Given the description of an element on the screen output the (x, y) to click on. 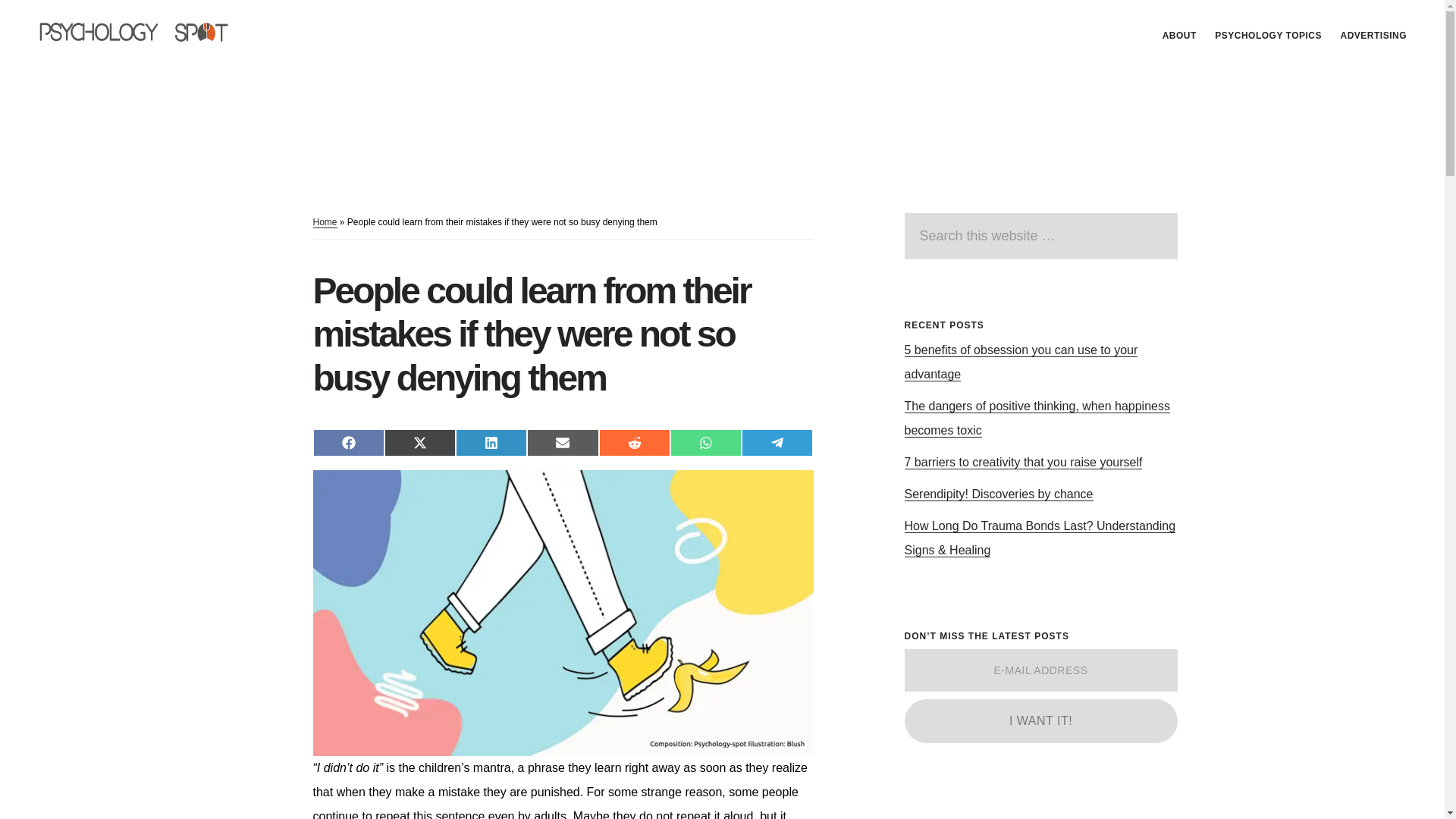
PSYCHOLOGY TOPICS (1268, 35)
ADVERTISING (1372, 35)
5 benefits of obsession you can use to your advantage (1020, 362)
SHARE ON TELEGRAM (776, 442)
PSYCHOLOGY SPOT (143, 32)
SHARE ON FACEBOOK (348, 442)
SHARE ON WHATSAPP (705, 442)
